Given the description of an element on the screen output the (x, y) to click on. 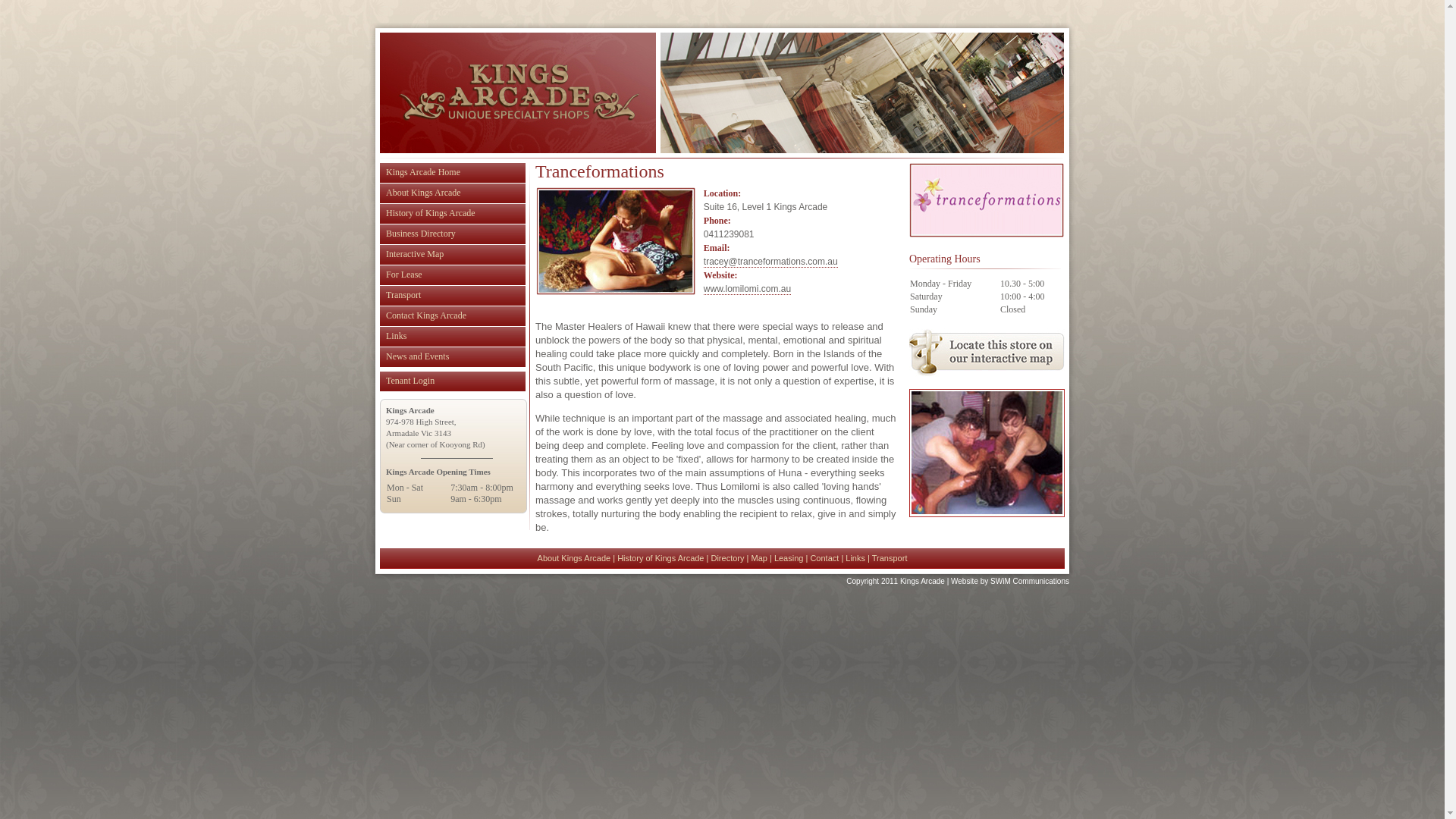
Business Directory Element type: text (452, 233)
Links Element type: text (452, 336)
For Lease Element type: text (452, 274)
Transport Element type: text (452, 295)
News and Events Element type: text (452, 356)
Transport Element type: text (889, 557)
Kings Arcade Home Element type: text (452, 172)
tracey@tranceformations.com.au Element type: text (770, 261)
Contact Element type: text (823, 557)
About Kings Arcade Element type: text (574, 557)
Contact Kings Arcade Element type: text (452, 315)
About Kings Arcade Element type: text (452, 192)
SWiM Communications Element type: text (1029, 581)
Links Element type: text (855, 557)
Tenant Login Element type: text (452, 380)
Map Element type: text (758, 557)
Directory Element type: text (726, 557)
History of Kings Arcade Element type: text (452, 213)
www.lomilomi.com.au Element type: text (746, 288)
Leasing Element type: text (788, 557)
Interactive Map Element type: text (452, 254)
History of Kings Arcade Element type: text (660, 557)
